Given the description of an element on the screen output the (x, y) to click on. 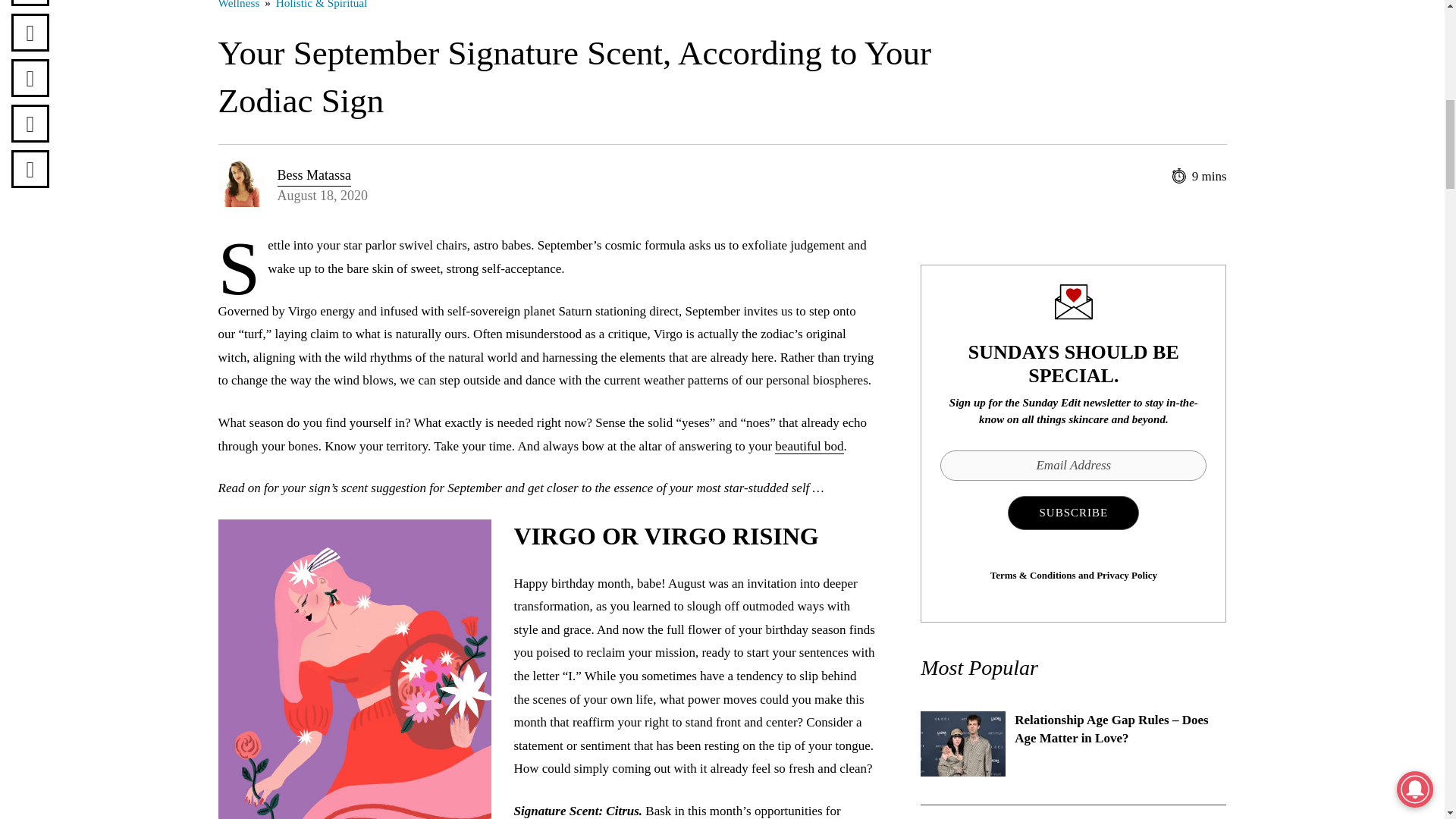
Wellness (239, 4)
